Given the description of an element on the screen output the (x, y) to click on. 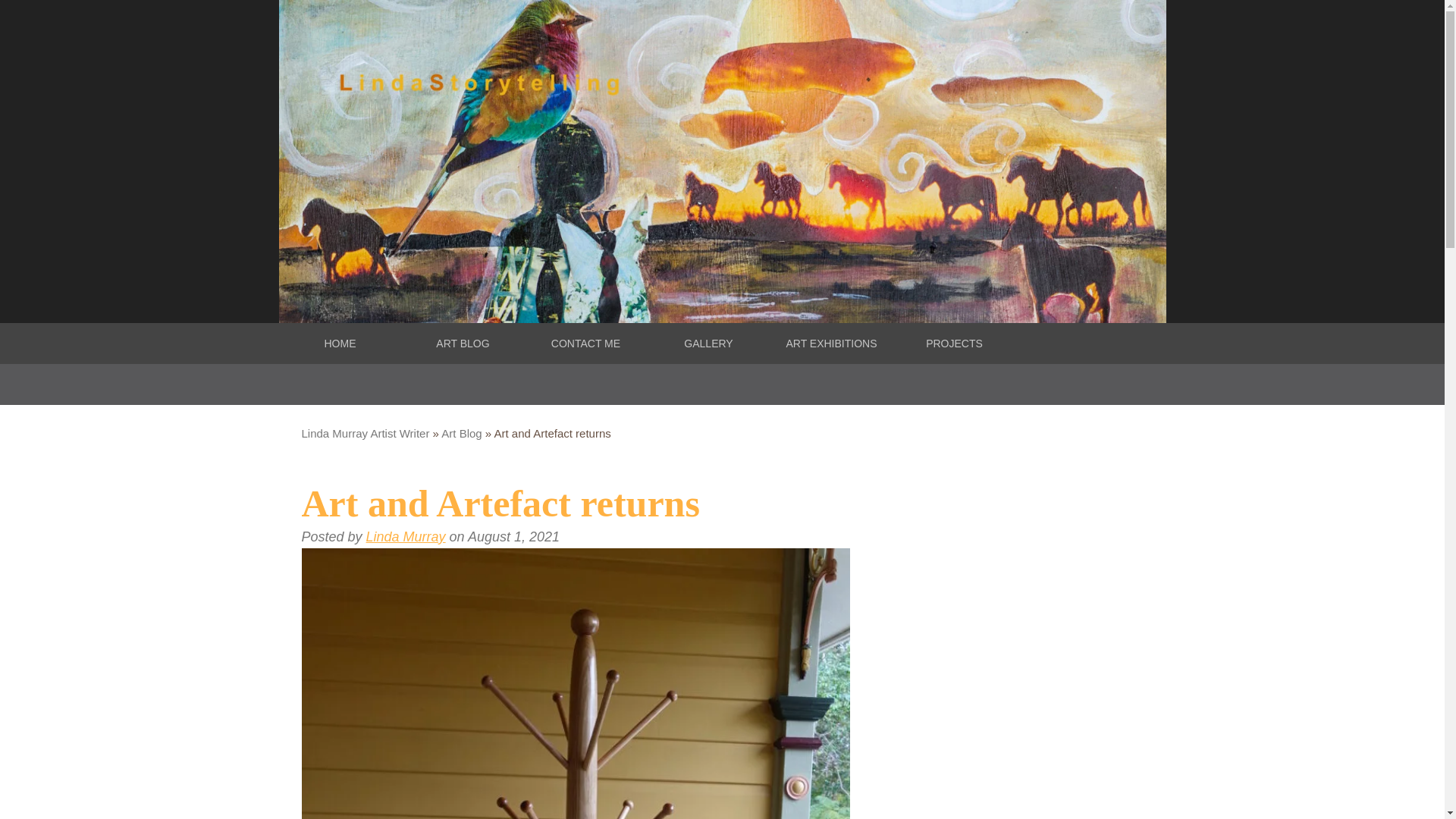
Posts by Linda Murray (405, 536)
GALLERY (708, 342)
CONTACT ME (585, 342)
Linda Murray (405, 536)
PROJECTS (954, 342)
ART BLOG (462, 342)
Art Blog (461, 432)
Linda Story Telling (340, 342)
Linda Murray Artist Writer (365, 432)
HOME (340, 342)
